Given the description of an element on the screen output the (x, y) to click on. 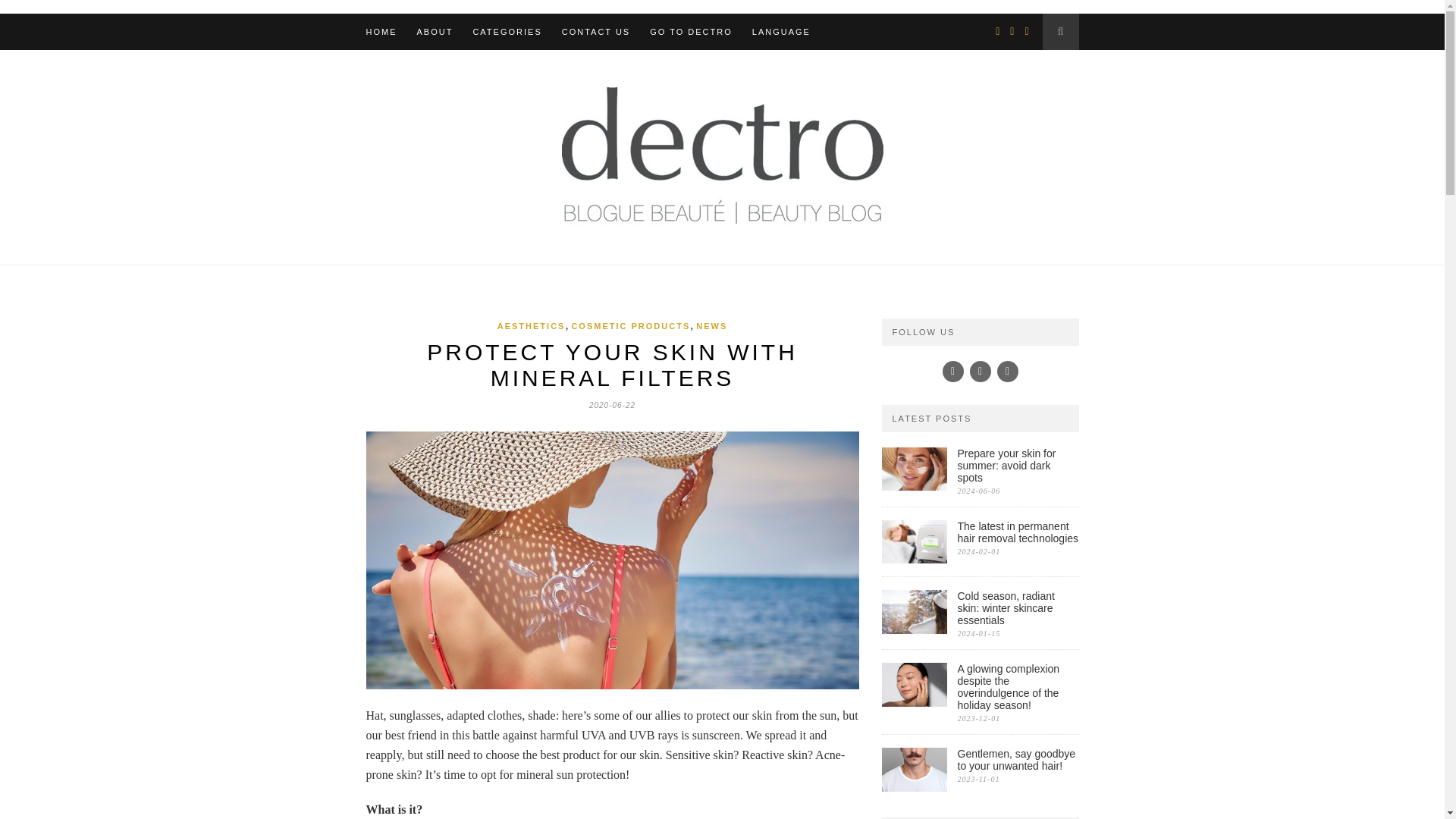
ABOUT (434, 31)
CATEGORIES (506, 31)
NEWS (710, 325)
AESTHETICS (531, 325)
CONTACT US (596, 31)
View all posts in News (710, 325)
GO TO DECTRO (690, 31)
COSMETIC PRODUCTS (630, 325)
